Given the description of an element on the screen output the (x, y) to click on. 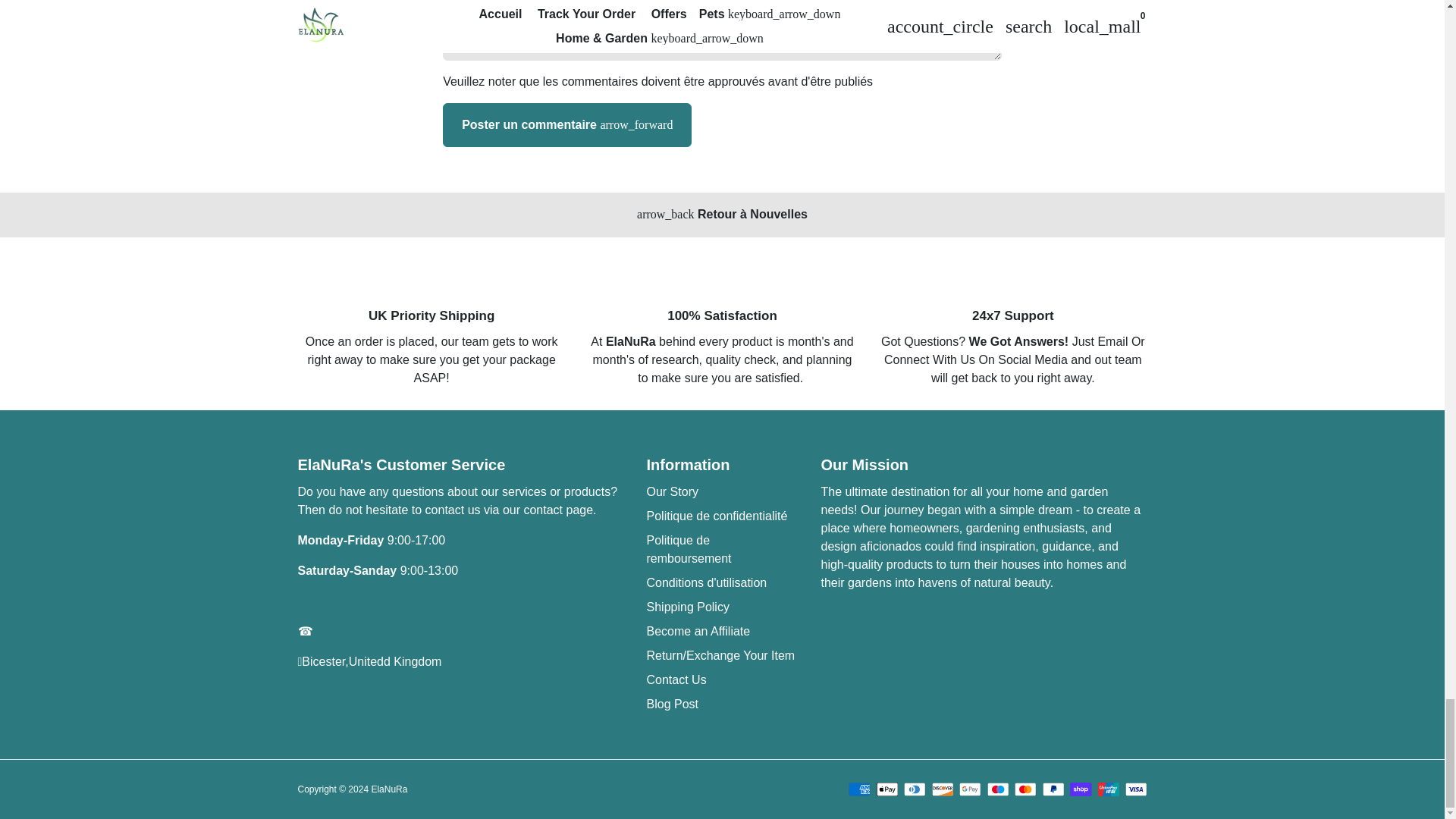
Apple Pay (887, 789)
Mastercard (1025, 789)
Maestro (998, 789)
Discover (941, 789)
American Express (859, 789)
Diners Club (915, 789)
Google Pay (970, 789)
